Given the description of an element on the screen output the (x, y) to click on. 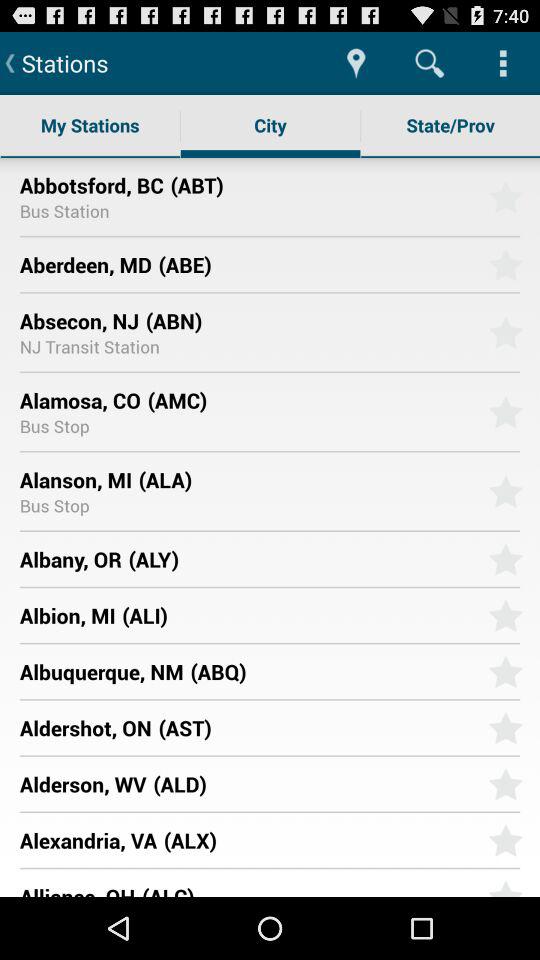
turn off app to the right of stations item (356, 62)
